Given the description of an element on the screen output the (x, y) to click on. 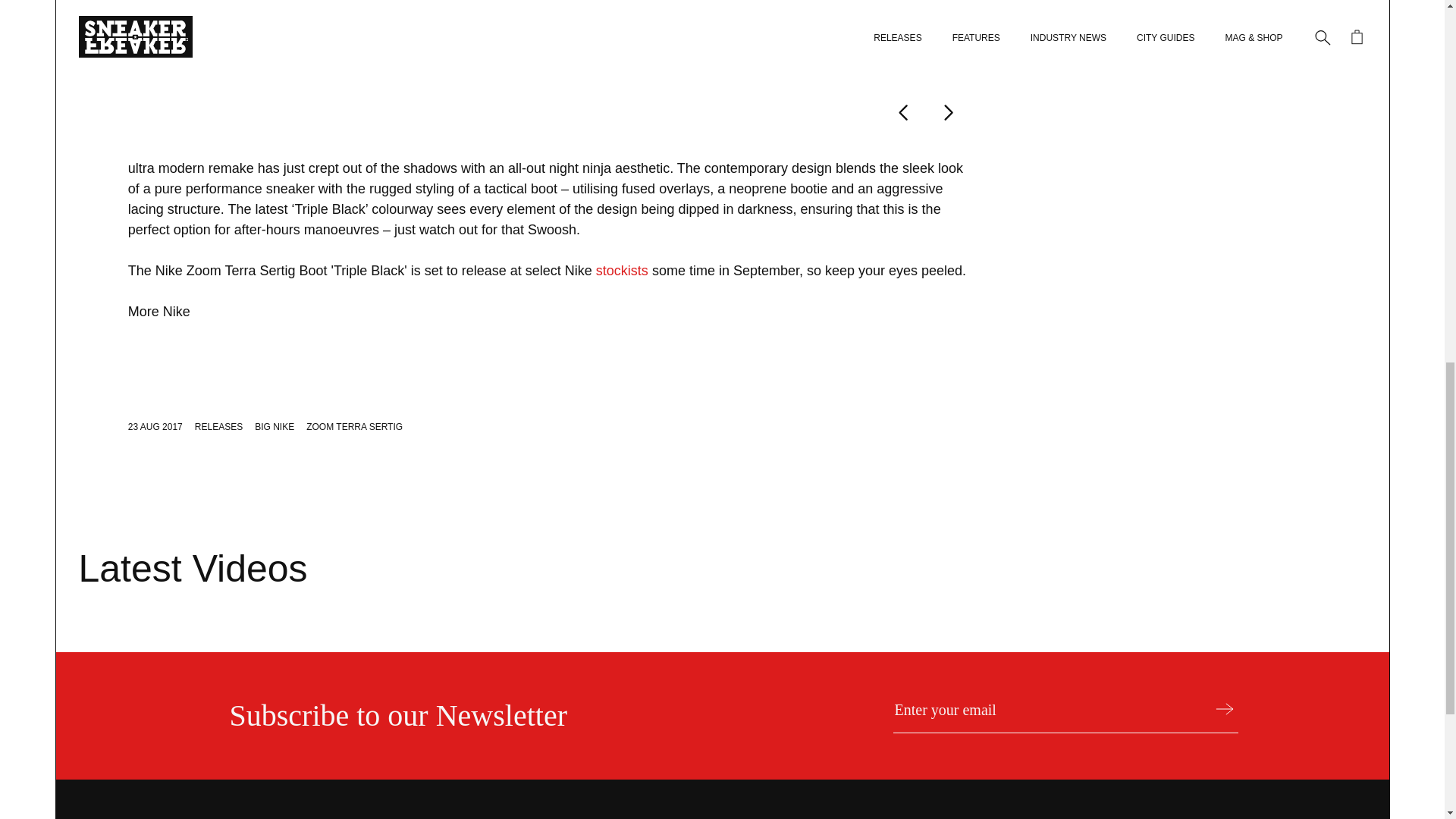
BIG NIKE (274, 426)
stockists (621, 270)
ZOOM TERRA SERTIG (354, 426)
RELEASES (219, 426)
